Given the description of an element on the screen output the (x, y) to click on. 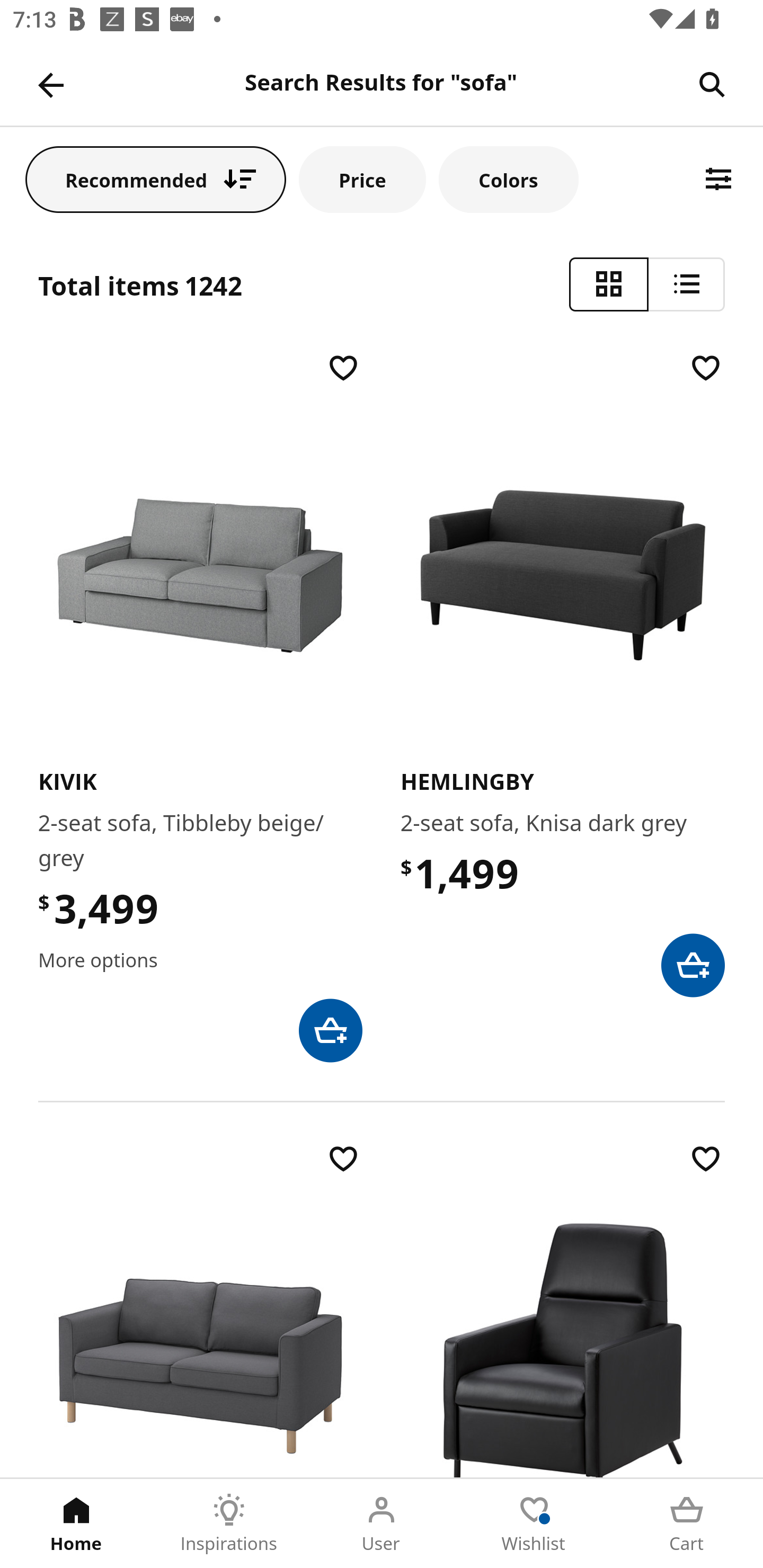
Recommended (155, 179)
Price (362, 179)
Colors (508, 179)
Home
Tab 1 of 5 (76, 1522)
Inspirations
Tab 2 of 5 (228, 1522)
User
Tab 3 of 5 (381, 1522)
Wishlist
Tab 4 of 5 (533, 1522)
Cart
Tab 5 of 5 (686, 1522)
